Given the description of an element on the screen output the (x, y) to click on. 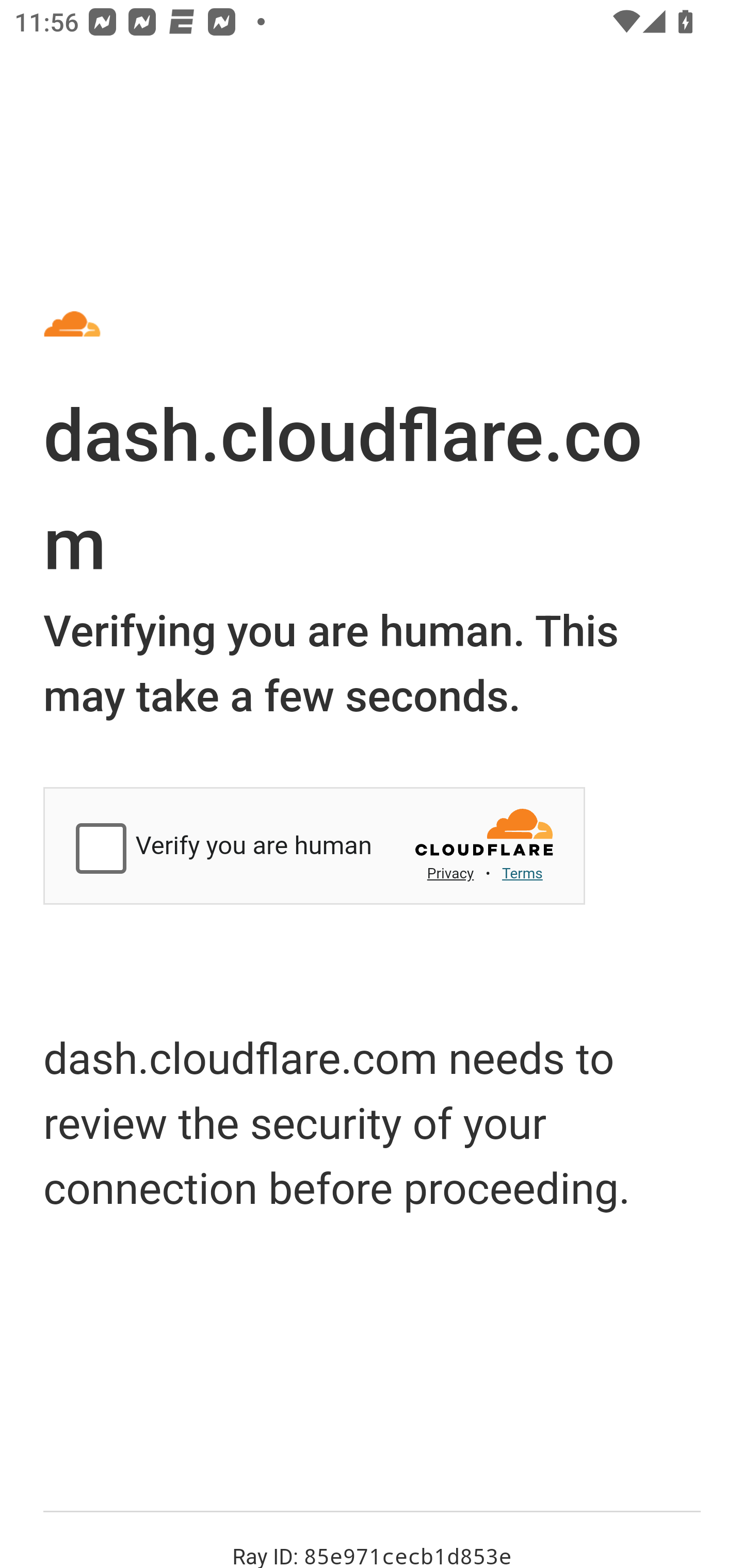
Cloudflare (485, 838)
Verify you are human (104, 849)
Privacy (450, 873)
Terms (522, 873)
